Given the description of an element on the screen output the (x, y) to click on. 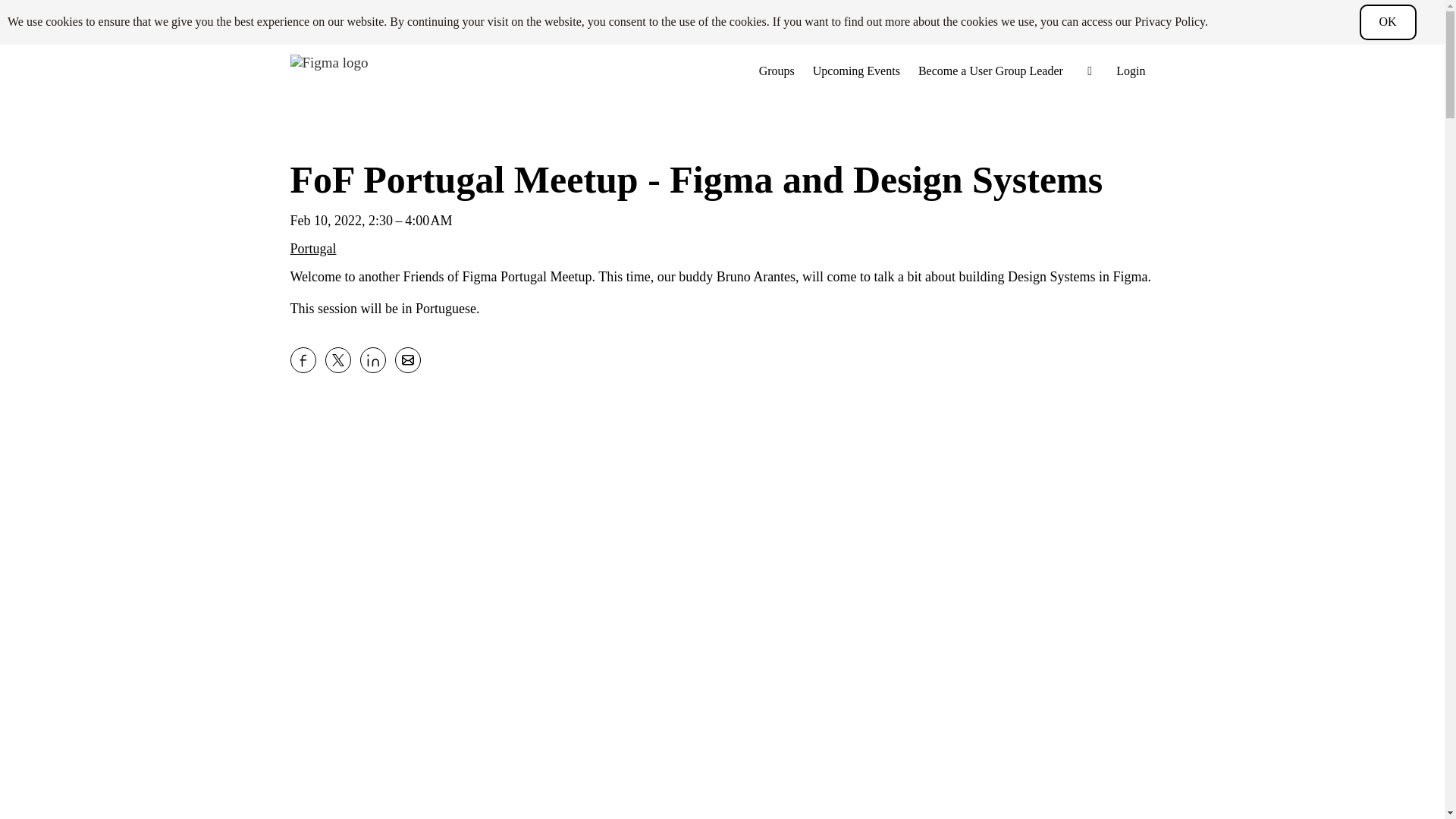
Portugal (312, 249)
Become a User Group Leader (989, 71)
Upcoming Events (855, 71)
OK (1386, 22)
Groups (776, 71)
